Given the description of an element on the screen output the (x, y) to click on. 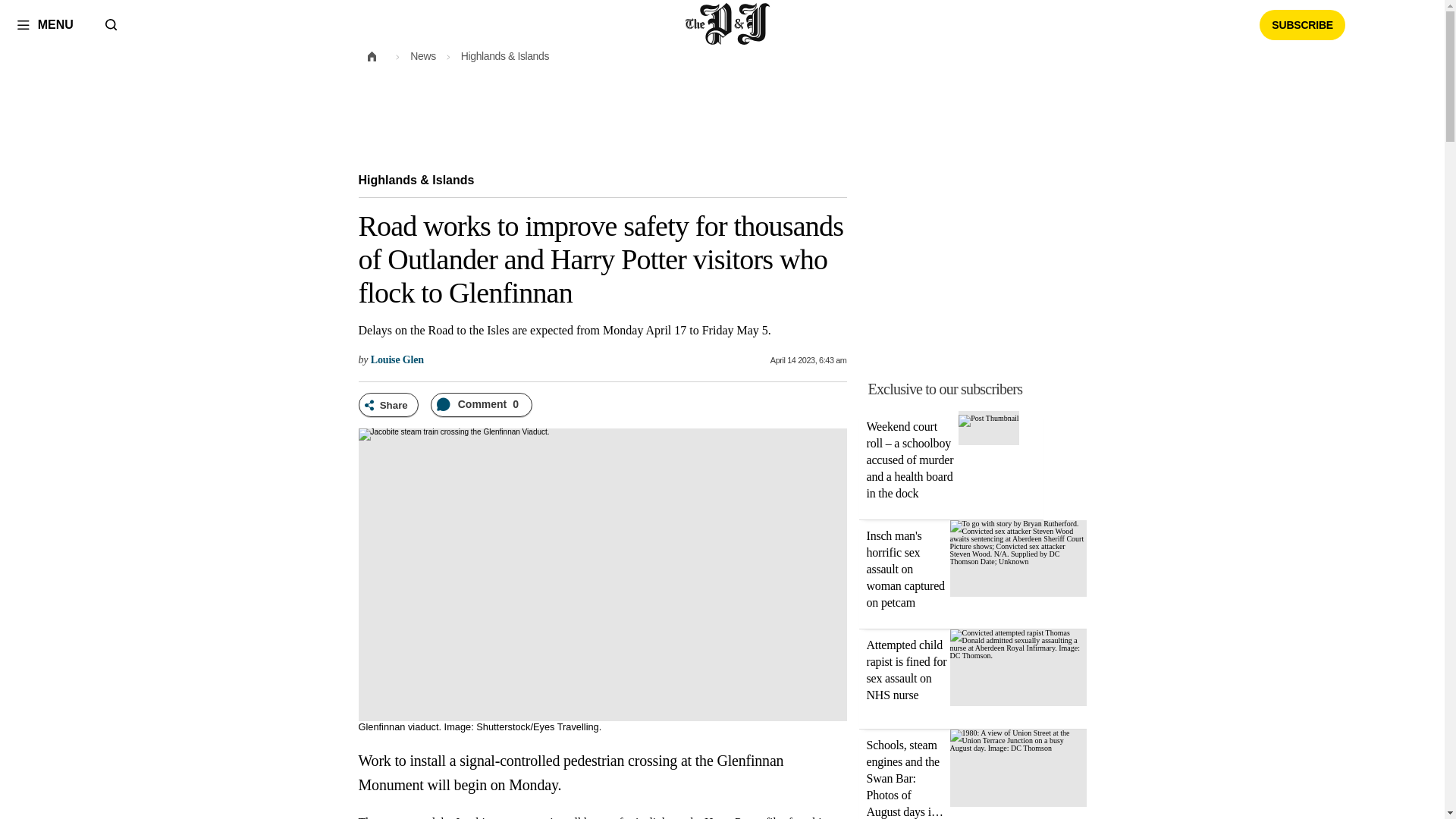
Press and Journal (727, 24)
MENU (44, 24)
Exclusive to our subscribers (981, 388)
